Given the description of an element on the screen output the (x, y) to click on. 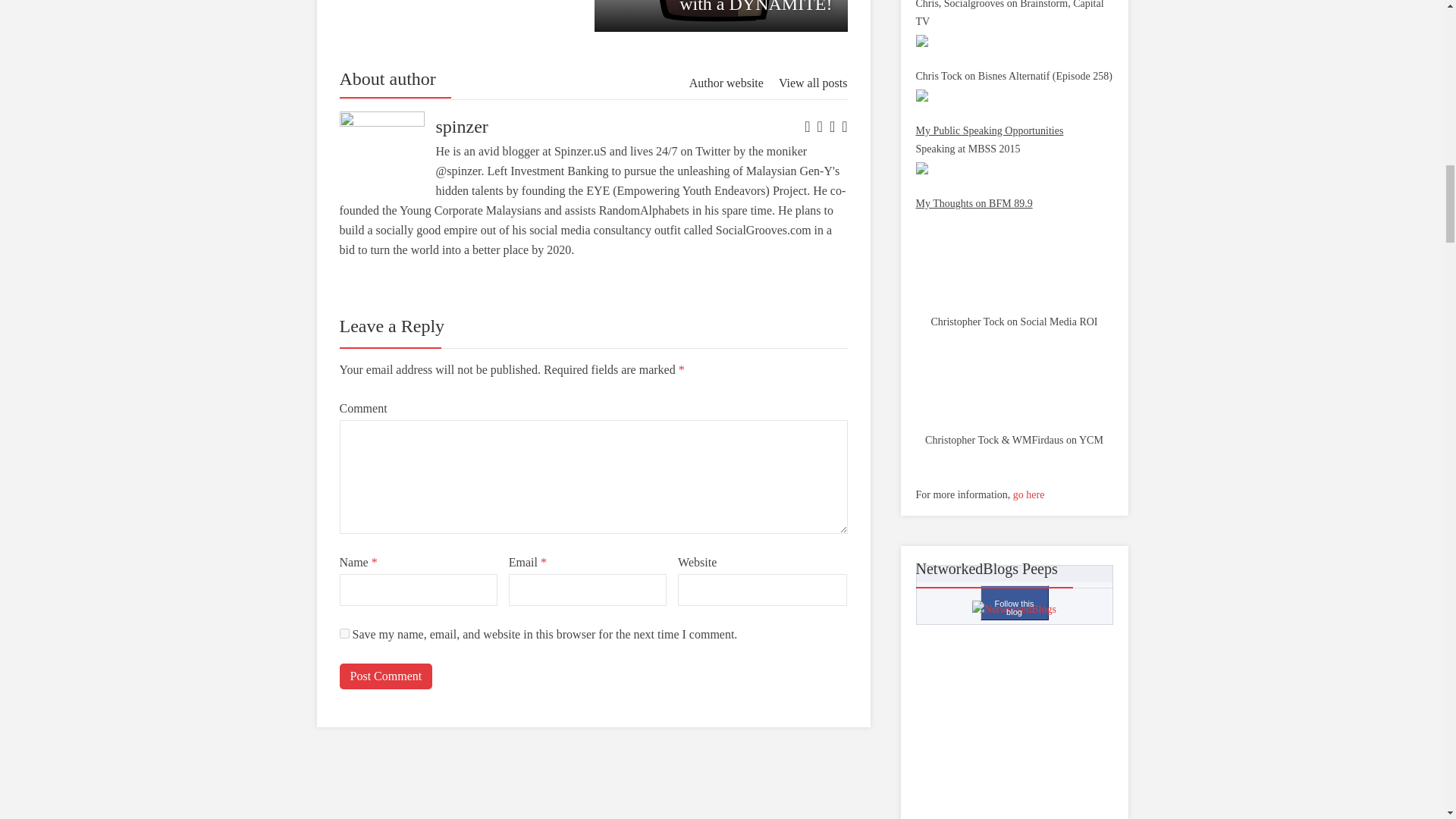
Post Comment (385, 676)
RandomAlphabets (643, 210)
Author website (725, 83)
NetworkedBlogs (1014, 609)
yes (344, 633)
View all posts (812, 83)
NetworkedBlogs (1014, 608)
Spinzer.uS (720, 15)
Young Corporate Malaysians (580, 151)
